Given the description of an element on the screen output the (x, y) to click on. 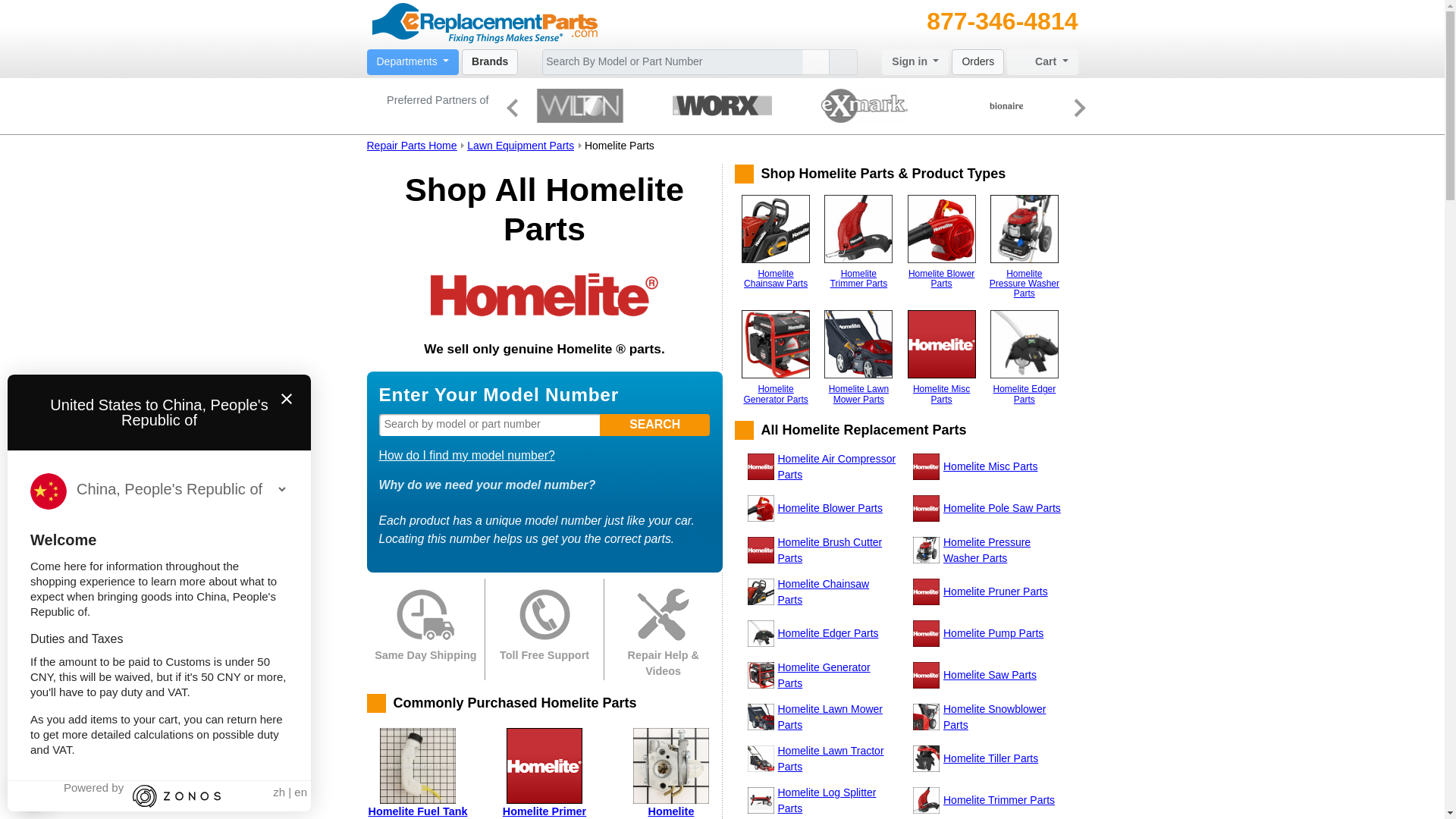
Search (654, 424)
Homelite Generator Parts (775, 344)
Open Zonos Hello (158, 792)
search (842, 62)
Search (654, 424)
Homelite Lawn Mower Parts (858, 344)
Brands (489, 62)
Homelite Blower Parts (941, 228)
Cart (1042, 62)
clear-search (815, 62)
Orders (978, 62)
Homelite Trimmer Parts (858, 228)
Homelite Chainsaw Parts (775, 228)
Search (842, 62)
Homelite Misc Parts (941, 344)
